Given the description of an element on the screen output the (x, y) to click on. 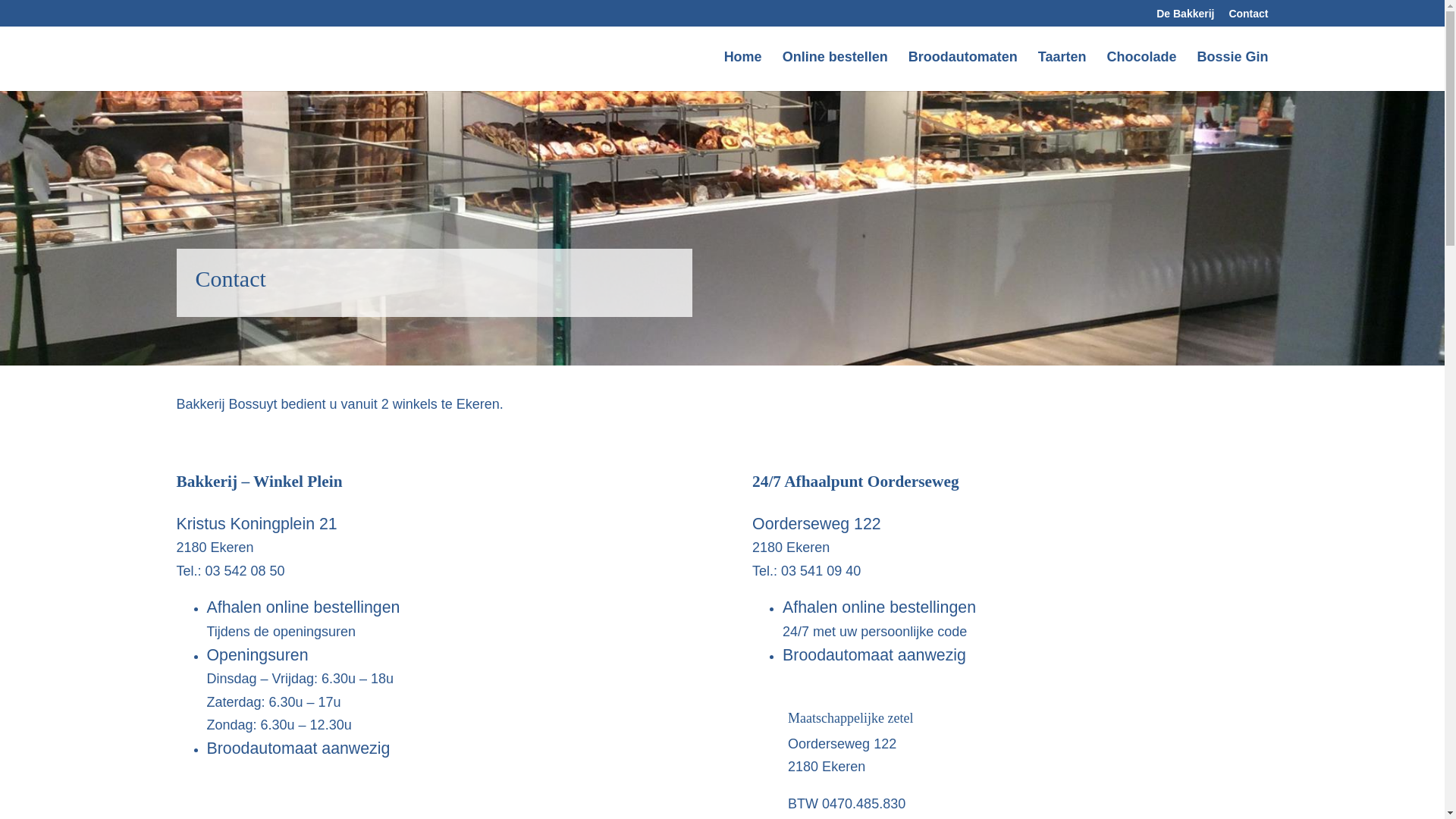
Online bestellen Element type: text (835, 71)
Bossie Gin Element type: text (1231, 71)
Broodautomaten Element type: text (962, 71)
De Bakkerij Element type: text (1185, 16)
Contact Element type: text (1247, 16)
Home Element type: text (743, 71)
Chocolade Element type: text (1141, 71)
Taarten Element type: text (1062, 71)
